Given the description of an element on the screen output the (x, y) to click on. 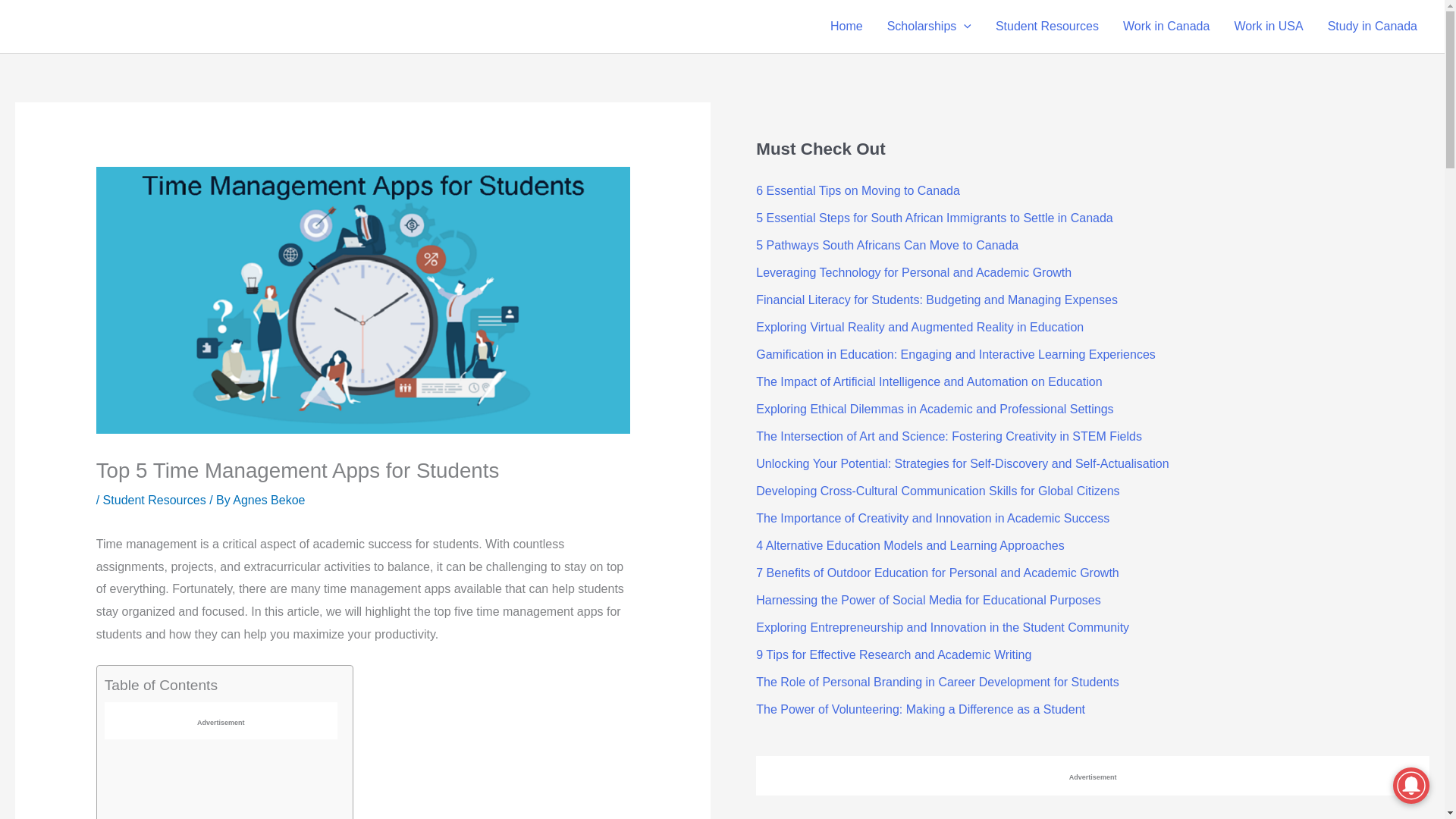
Home (846, 26)
Advertisement (221, 779)
Work in Canada (1165, 26)
Scholarships (929, 26)
Student Resources (1047, 26)
Study in Canada (1372, 26)
View all posts by Agnes Bekoe (268, 499)
Work in USA (1267, 26)
